Given the description of an element on the screen output the (x, y) to click on. 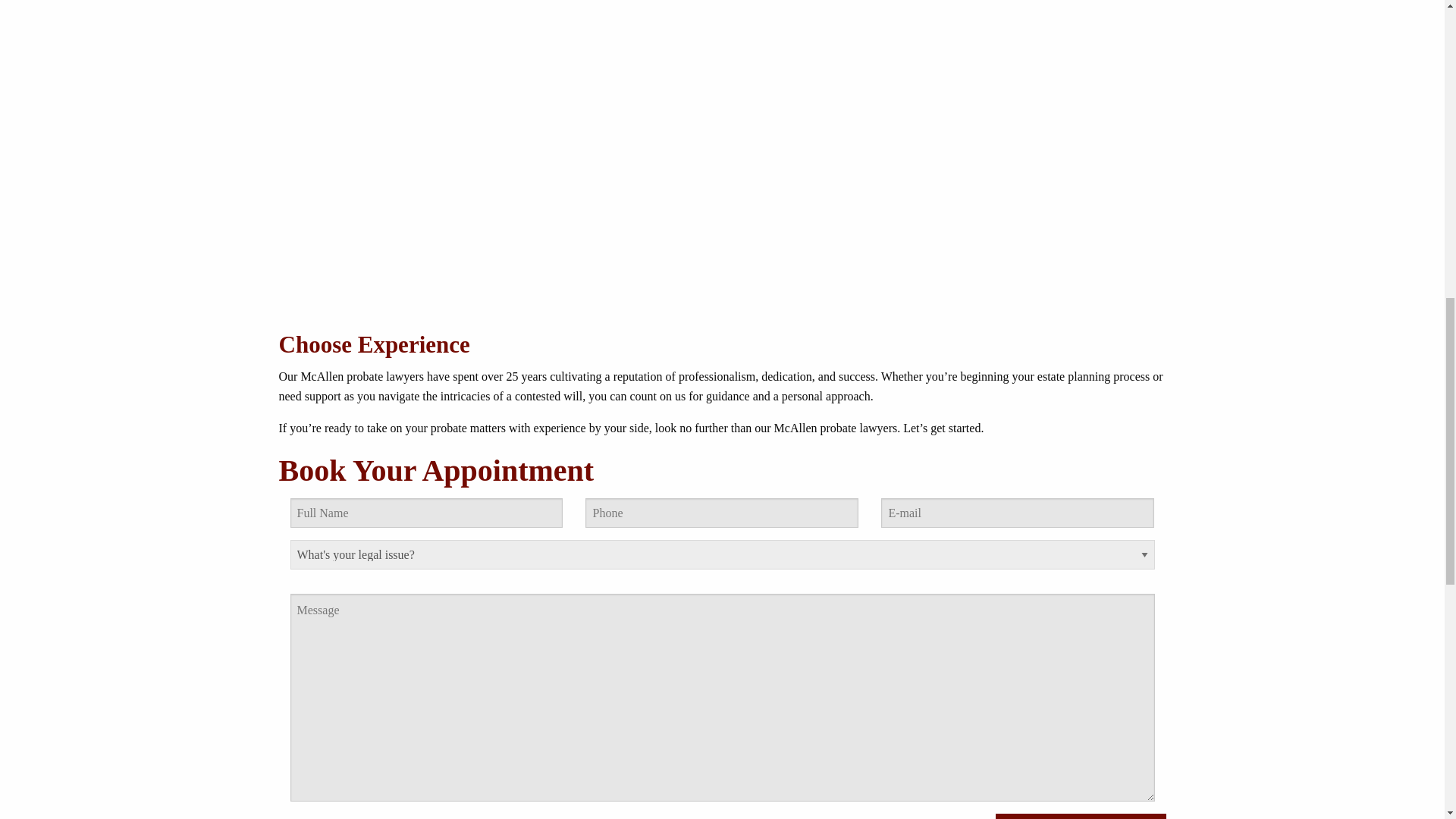
Send (1080, 816)
